Given the description of an element on the screen output the (x, y) to click on. 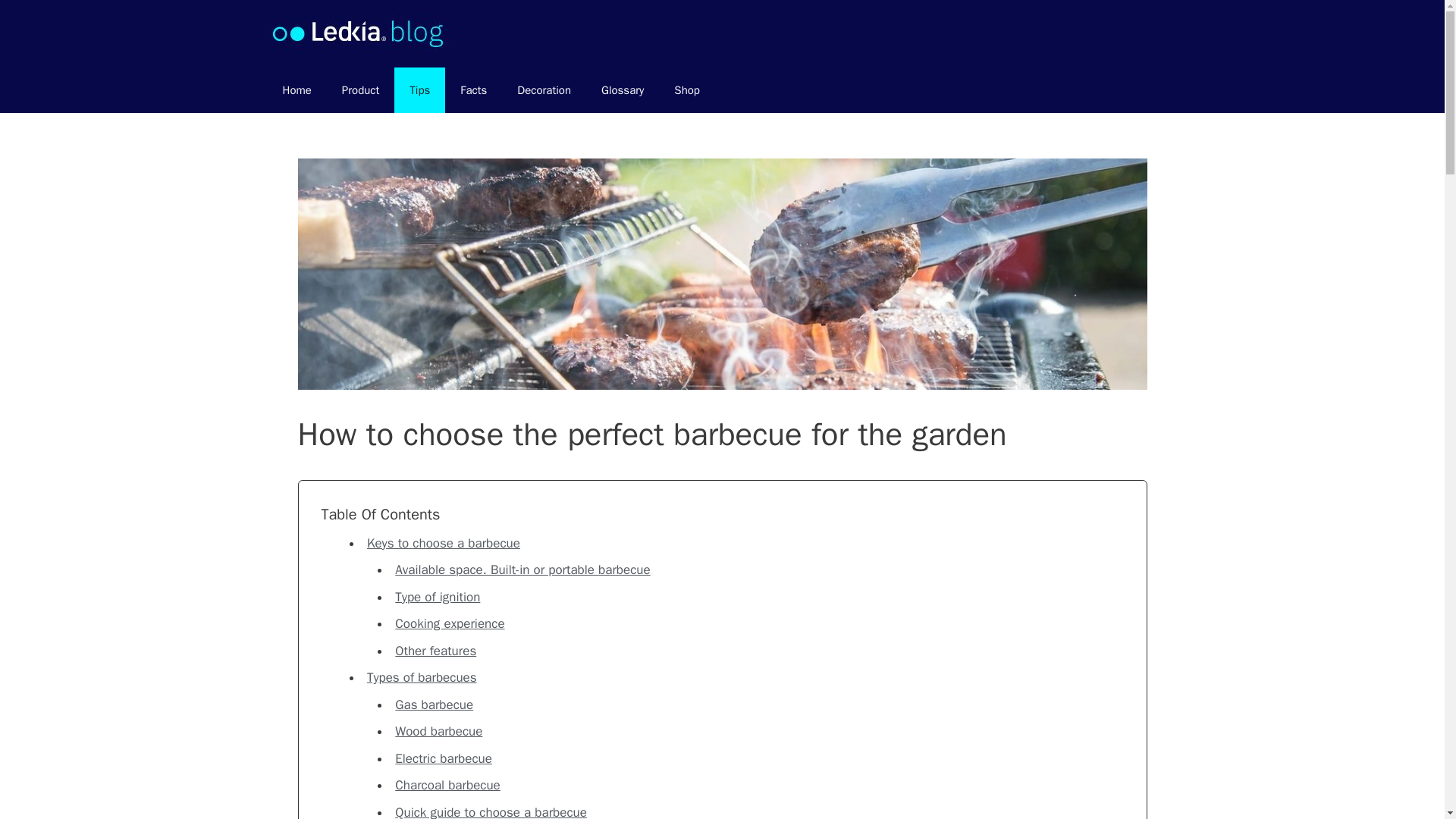
Facts (473, 90)
Decoration (544, 90)
Electric barbecue (443, 758)
Tips (419, 90)
Wood barbecue (437, 731)
Types of barbecues (421, 677)
Keys to choose a barbecue (442, 543)
Available space. Built-in or portable barbecue (521, 569)
Cooking experience (448, 623)
Gas barbecue (433, 704)
